Given the description of an element on the screen output the (x, y) to click on. 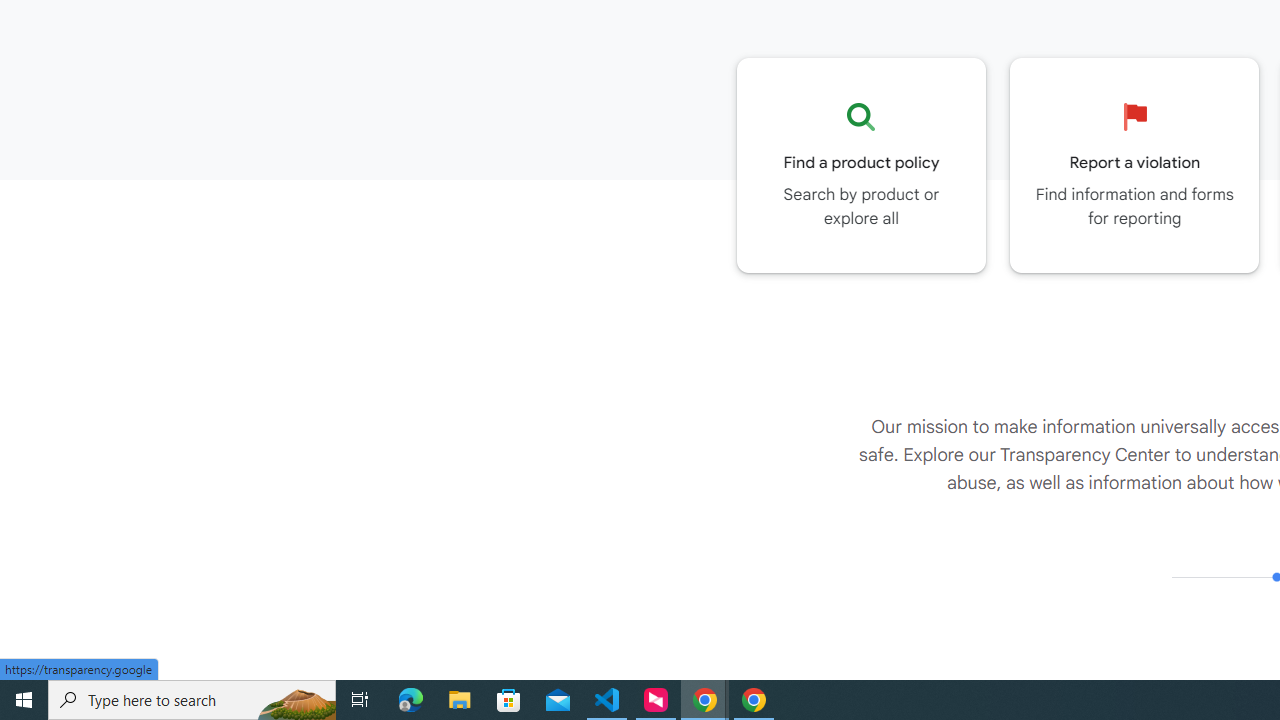
Go to the Product policy page (861, 165)
Go to the Reporting and appeals page (1134, 165)
